Given the description of an element on the screen output the (x, y) to click on. 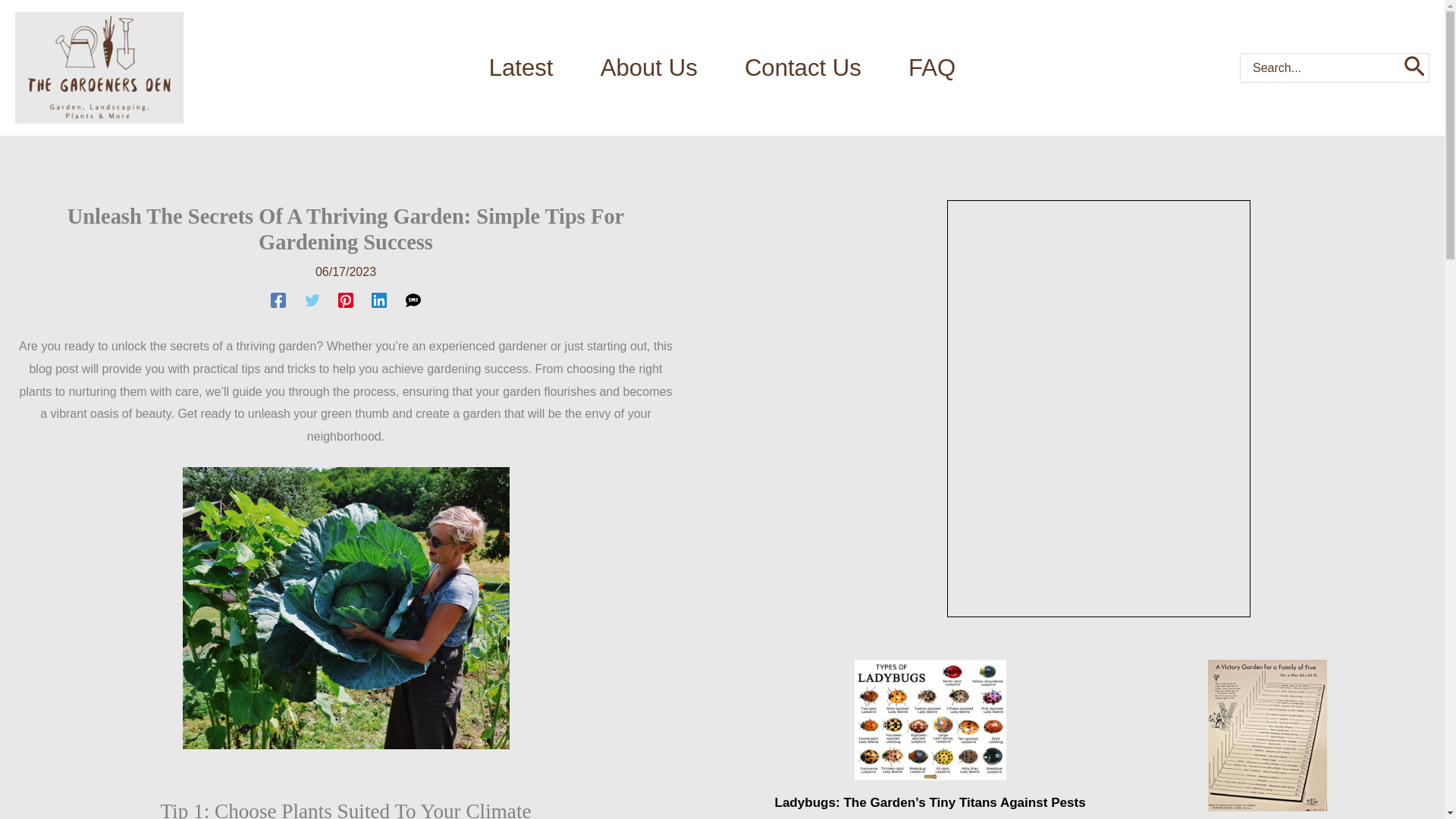
Latest (520, 67)
Contact Us (802, 67)
Search (1414, 67)
FAQ (931, 67)
About Us (648, 67)
